Given the description of an element on the screen output the (x, y) to click on. 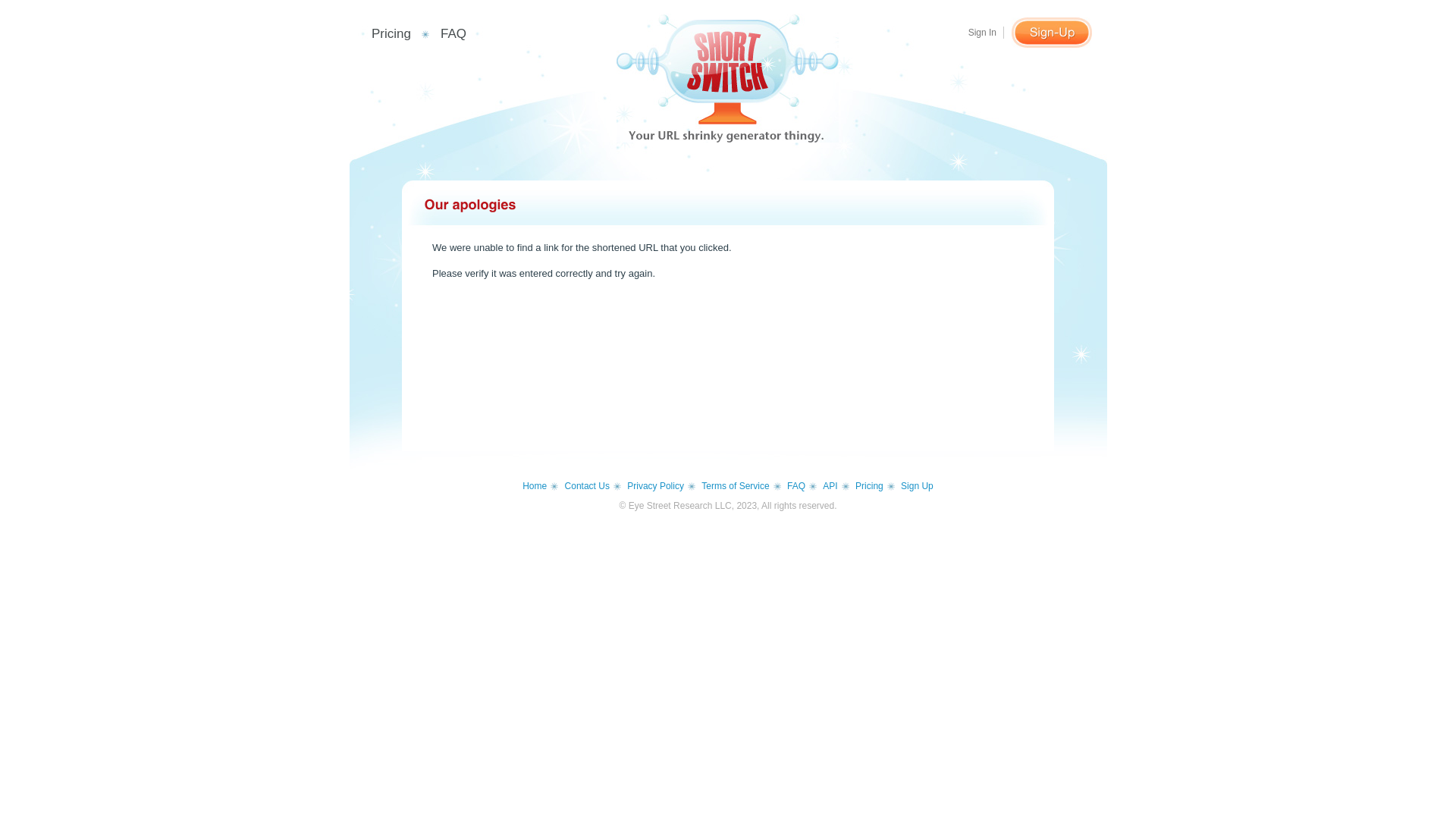
API Element type: text (835, 485)
Home Element type: text (540, 485)
Sign Up Element type: hover (1051, 32)
Sign Up Element type: text (916, 485)
Pricing Element type: text (874, 485)
Terms of Service Element type: text (740, 485)
Privacy Policy Element type: text (661, 485)
FAQ Element type: text (453, 33)
Pricing Element type: text (391, 33)
Sign In Element type: text (986, 32)
Contact Us Element type: text (592, 485)
FAQ Element type: text (801, 485)
ShortSwitch: Your URL shrinky generator thingy. Element type: hover (727, 77)
